Given the description of an element on the screen output the (x, y) to click on. 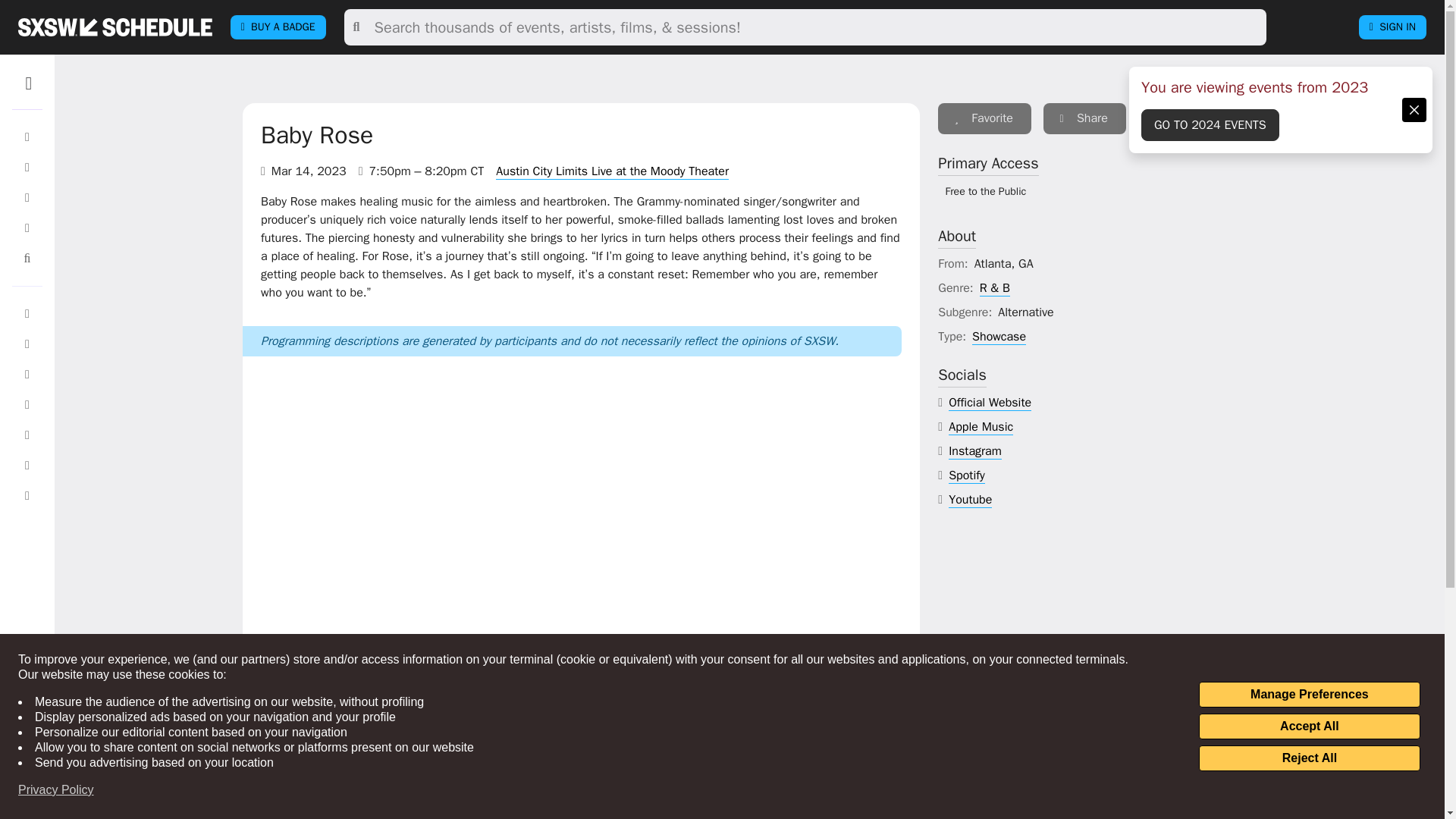
SIGN IN (1392, 27)
spotify (967, 475)
Sign In to add to your favorites. (983, 118)
apple (981, 426)
BUY A BADGE (278, 27)
Reject All (1309, 758)
website (989, 402)
Privacy Policy (55, 789)
GO TO 2024 EVENTS (1210, 124)
youtube (970, 499)
